Given the description of an element on the screen output the (x, y) to click on. 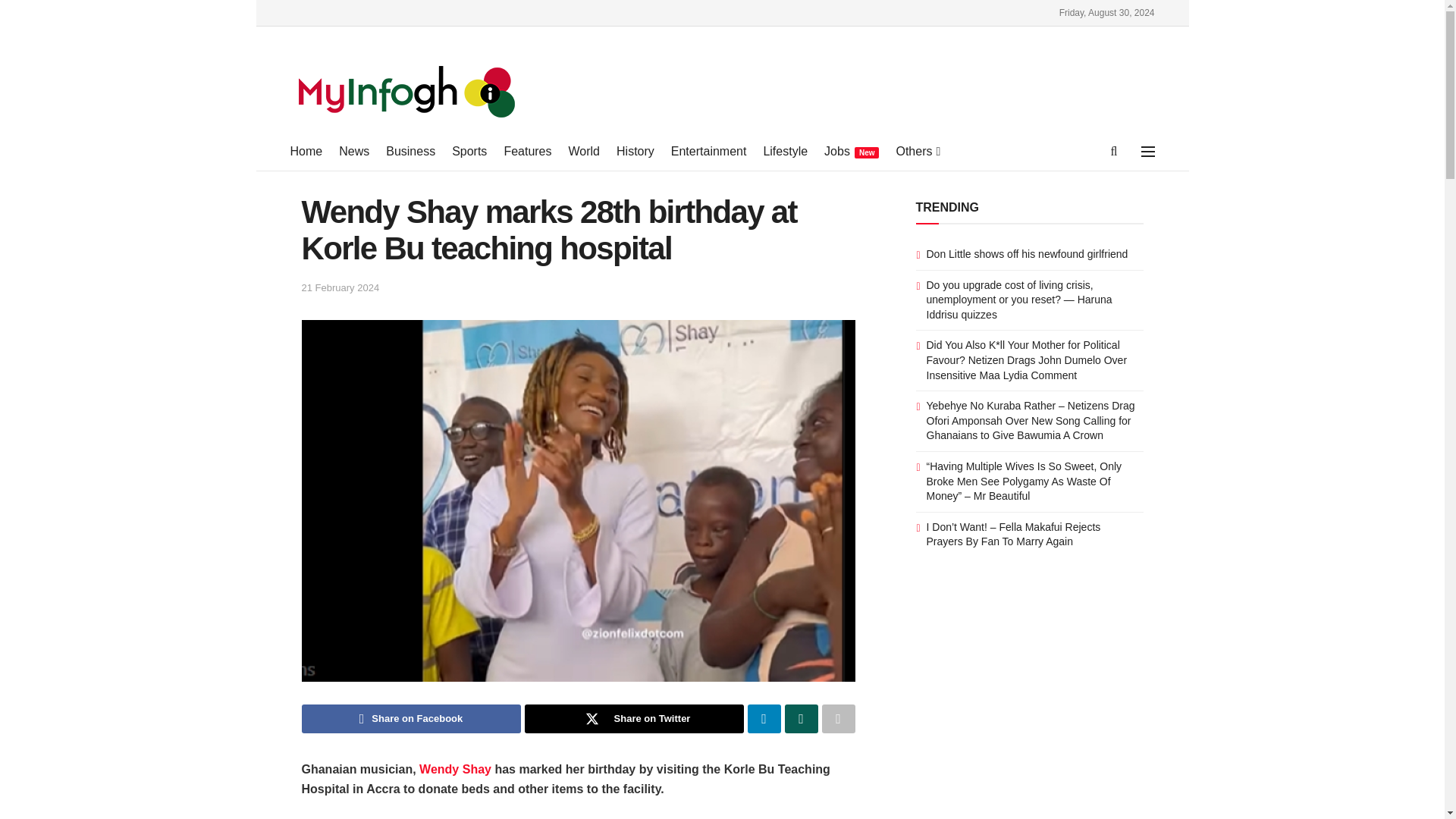
World (584, 151)
Sports (468, 151)
Entertainment (708, 151)
History (634, 151)
JobsNew (851, 151)
Features (527, 151)
Lifestyle (785, 151)
Home (305, 151)
News (354, 151)
Others (916, 151)
